Given the description of an element on the screen output the (x, y) to click on. 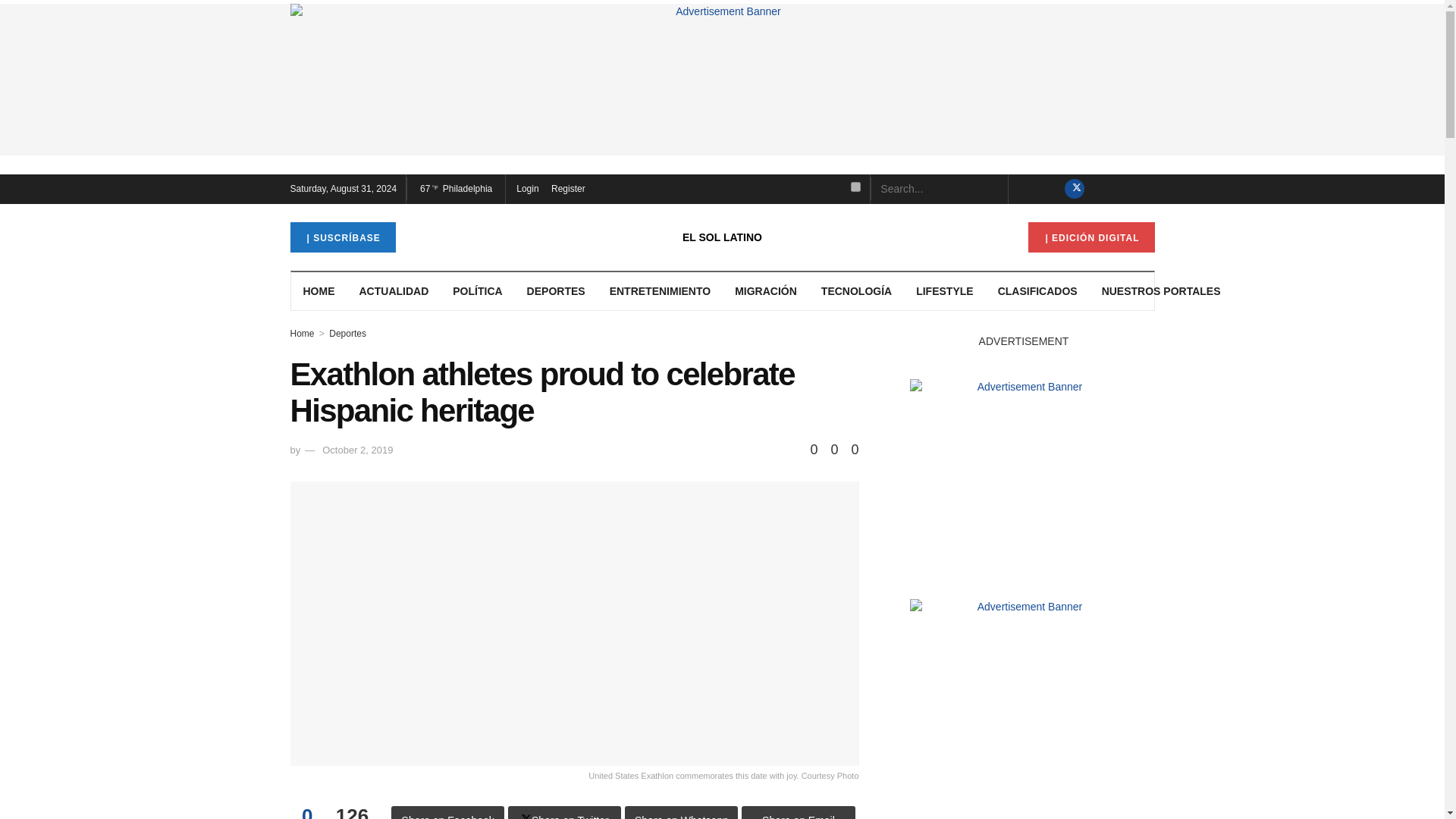
Register (567, 188)
DEPORTES (555, 290)
HOME (319, 290)
on (855, 186)
EL SOL LATINO (721, 236)
ENTRETENIMIENTO (659, 290)
ACTUALIDAD (394, 290)
